Given the description of an element on the screen output the (x, y) to click on. 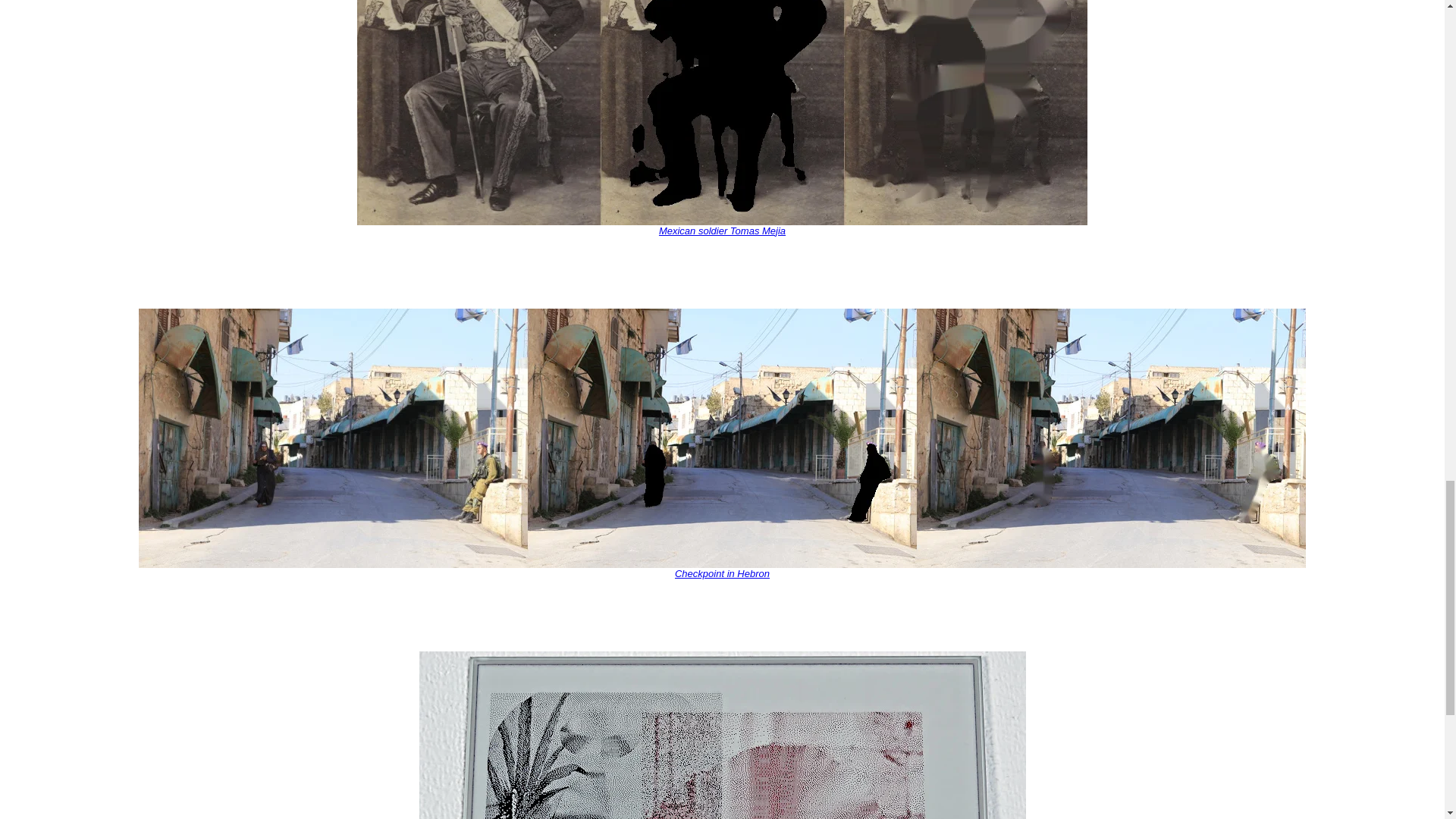
Mexican soldier Tomas Mejia (722, 230)
Checkpoint in Hebron (722, 573)
